Given the description of an element on the screen output the (x, y) to click on. 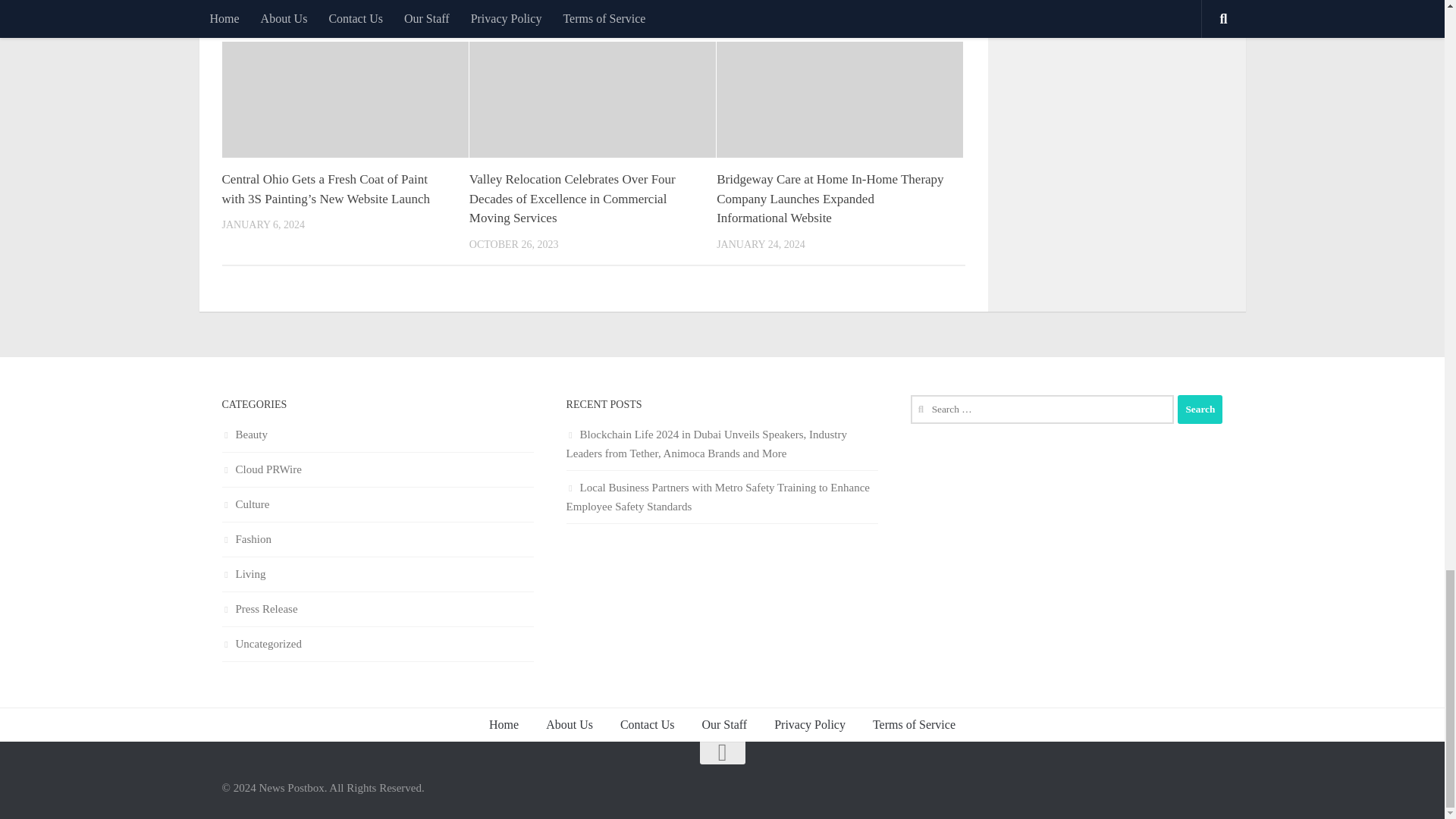
Search (1200, 409)
Search (1200, 409)
